Given the description of an element on the screen output the (x, y) to click on. 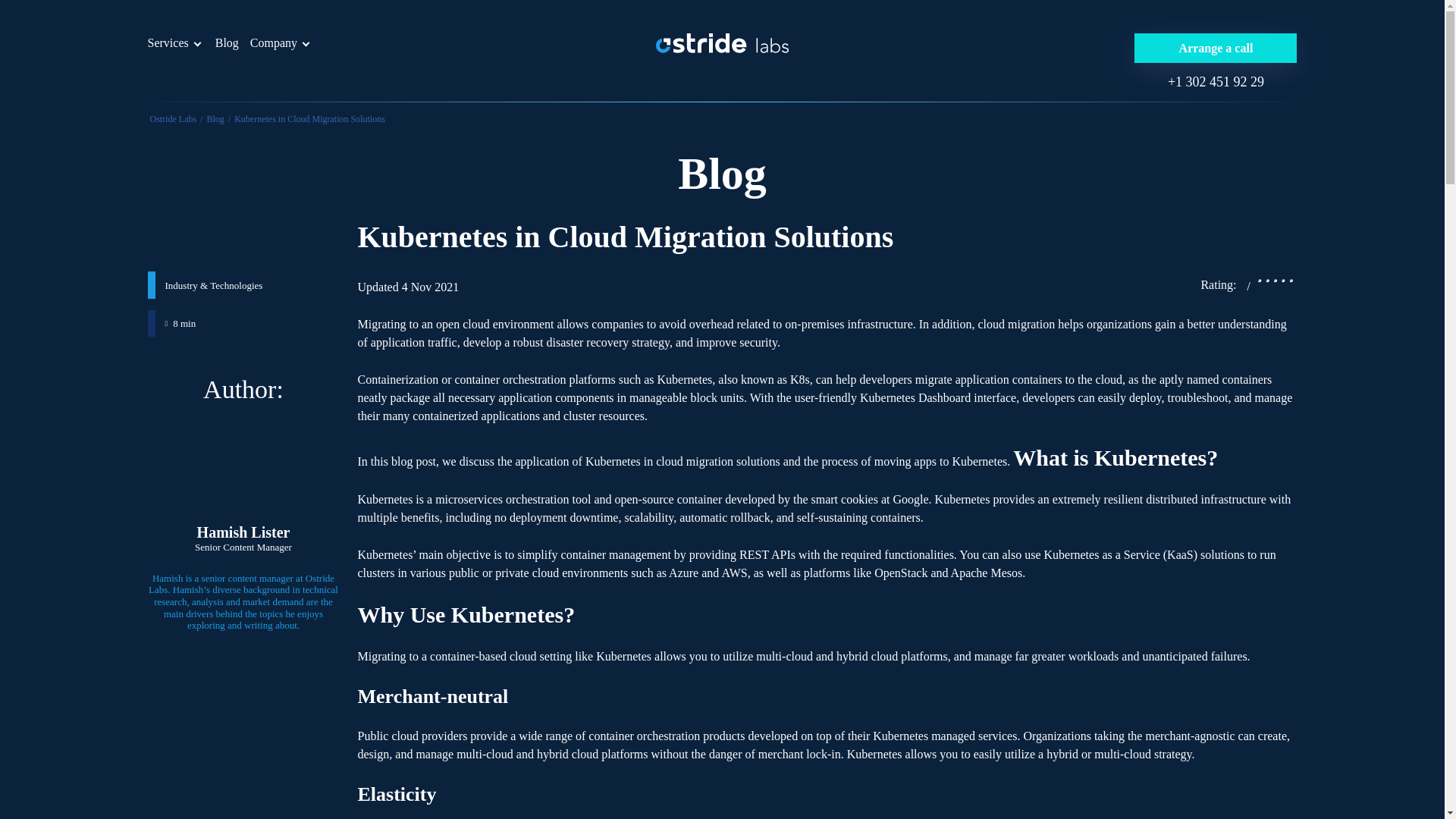
Go to Ostride Labs. (172, 118)
Go to Blog. (215, 118)
Services (167, 42)
Company (273, 42)
Ostride Labs (172, 118)
Blog (215, 118)
Arrange a call (1215, 48)
